Given the description of an element on the screen output the (x, y) to click on. 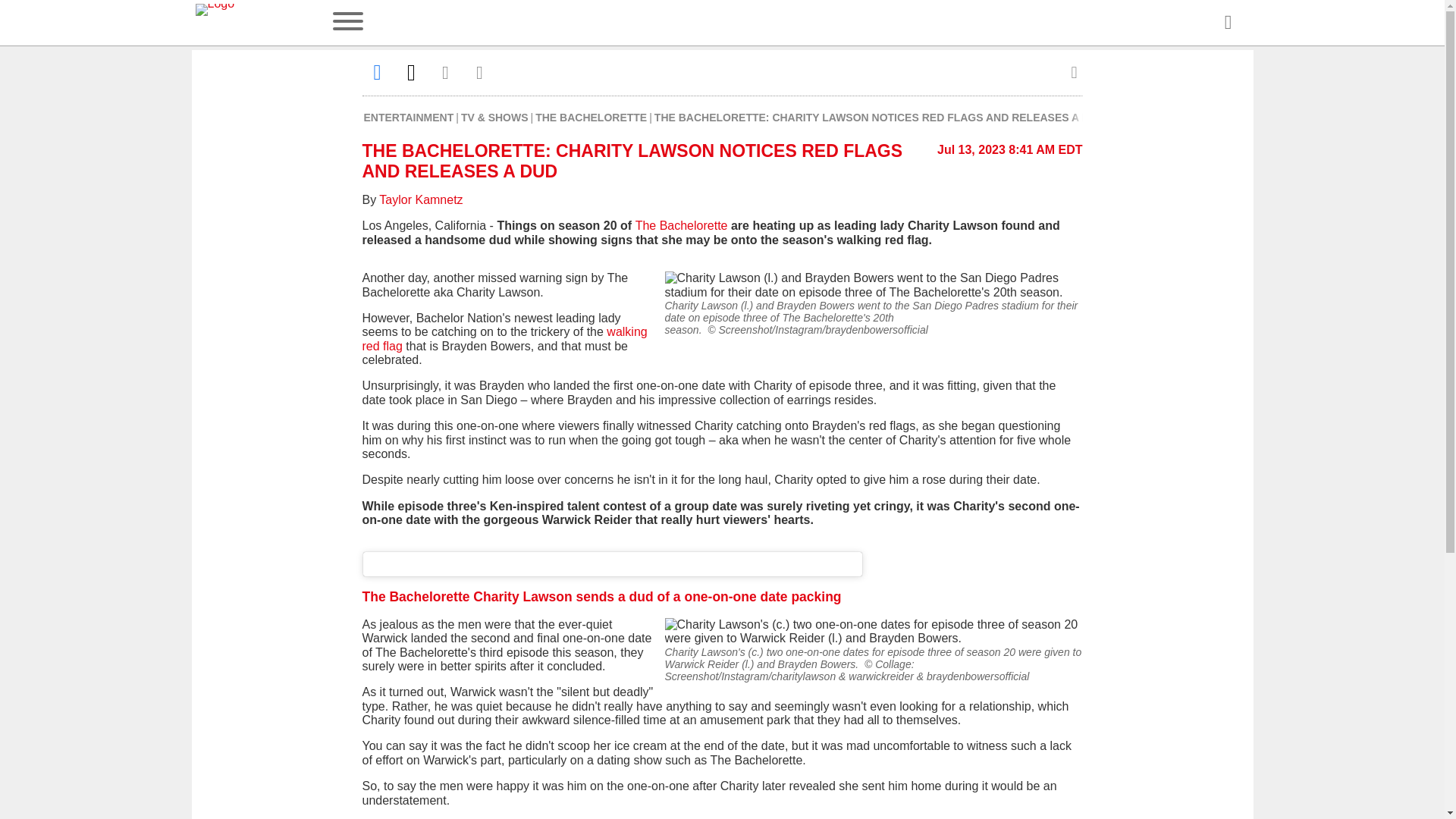
The Bachelorette (681, 225)
Copy link (479, 72)
menu (347, 22)
Share on Facebook (377, 72)
ENTERTAINMENT (409, 117)
Share on Twitter (411, 72)
Share via mail (445, 72)
Open search (1227, 22)
walking red flag (504, 338)
Taylor Kamnetz (420, 199)
